Given the description of an element on the screen output the (x, y) to click on. 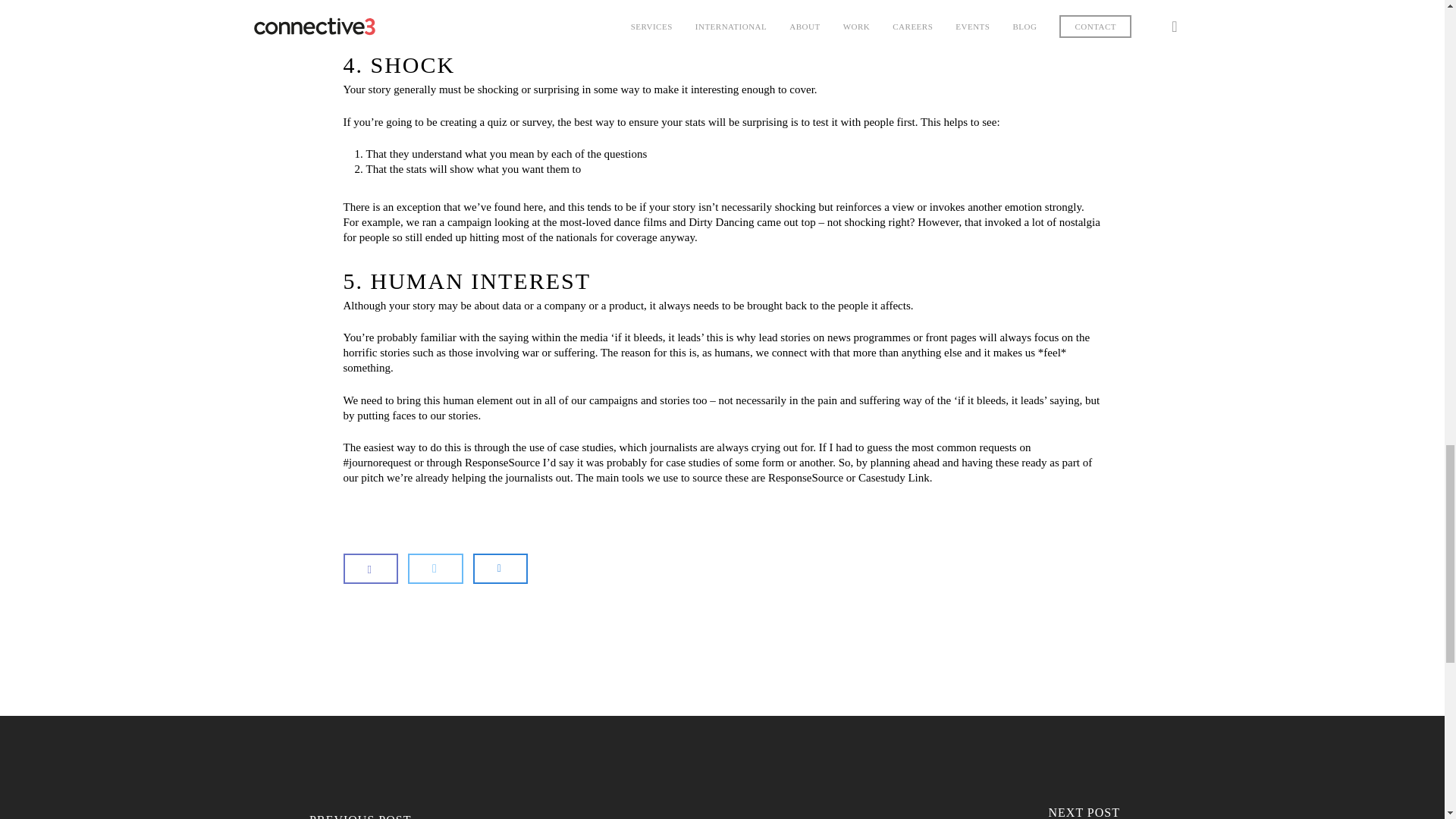
Share this (435, 568)
Share this (369, 568)
Share this (500, 568)
